Given the description of an element on the screen output the (x, y) to click on. 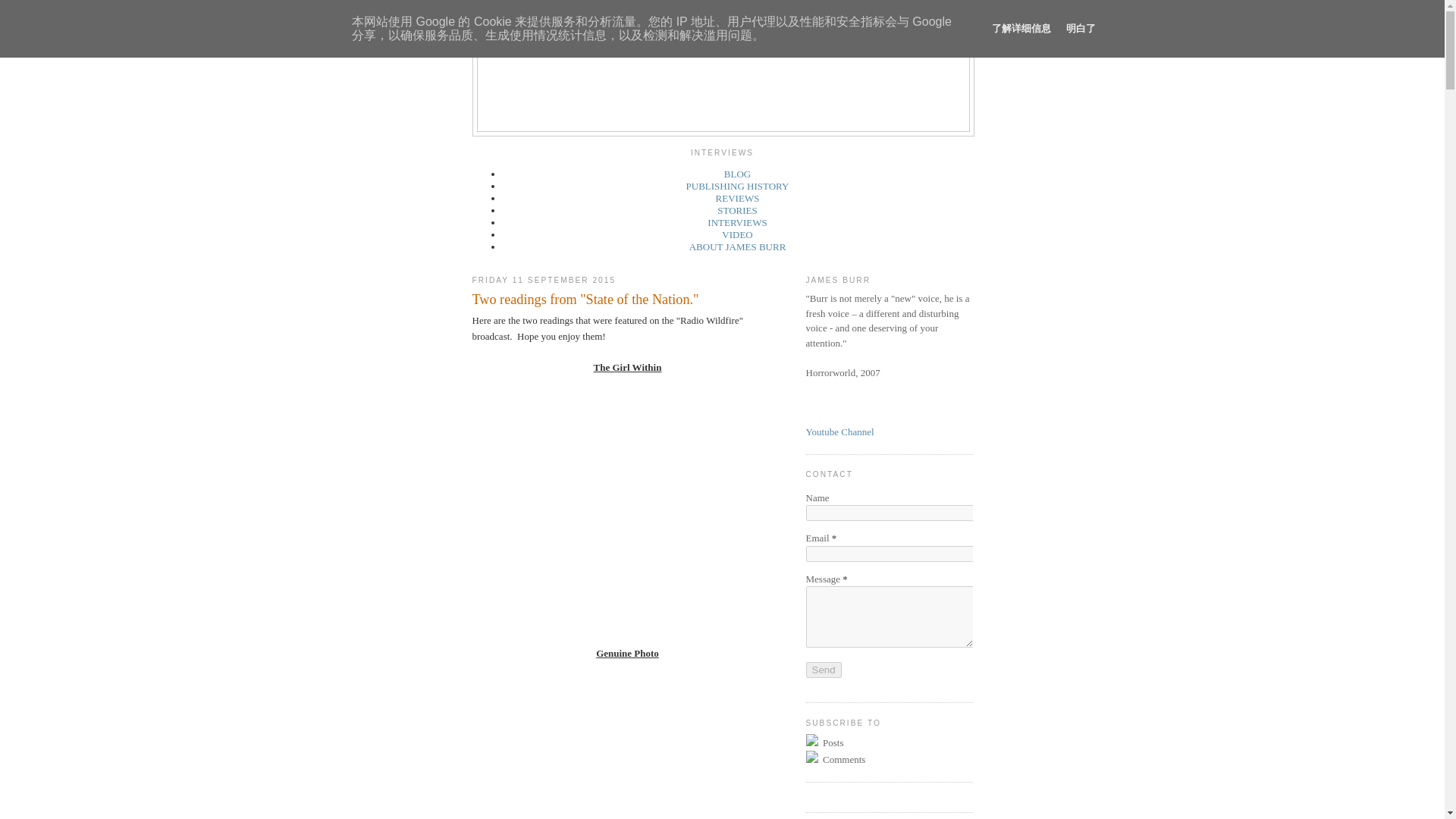
REVIEWS (738, 197)
BLOG (737, 173)
Youtube Channel (839, 431)
STORIES (737, 210)
ABOUT JAMES BURR (737, 246)
INTERVIEWS (737, 222)
PUBLISHING HISTORY (737, 185)
Send (823, 669)
VIDEO (737, 234)
